Given the description of an element on the screen output the (x, y) to click on. 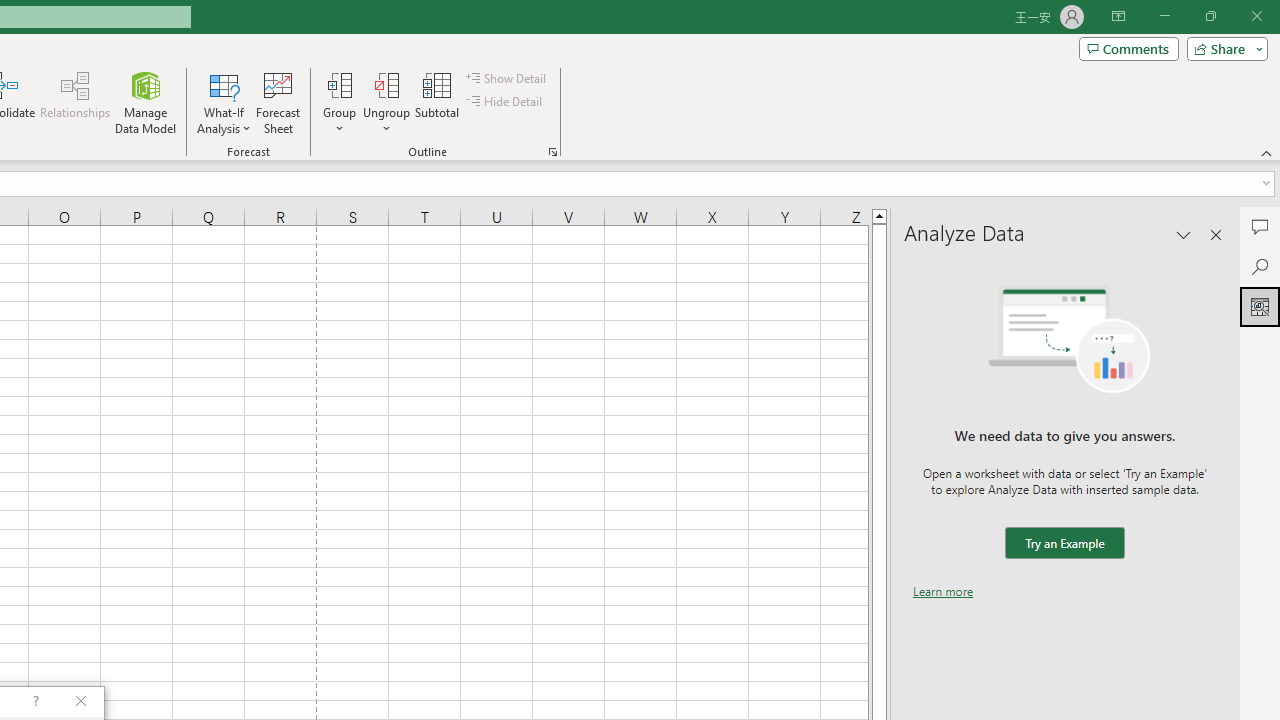
Close (1256, 16)
Forecast Sheet (278, 102)
Ungroup... (386, 102)
Comments (1128, 48)
Ribbon Display Options (1118, 16)
Share (1223, 48)
Line up (879, 215)
Relationships (75, 102)
Group... (339, 102)
Subtotal (437, 102)
Learn more (943, 591)
Analyze Data (1260, 306)
Restore Down (1210, 16)
Hide Detail (505, 101)
